Given the description of an element on the screen output the (x, y) to click on. 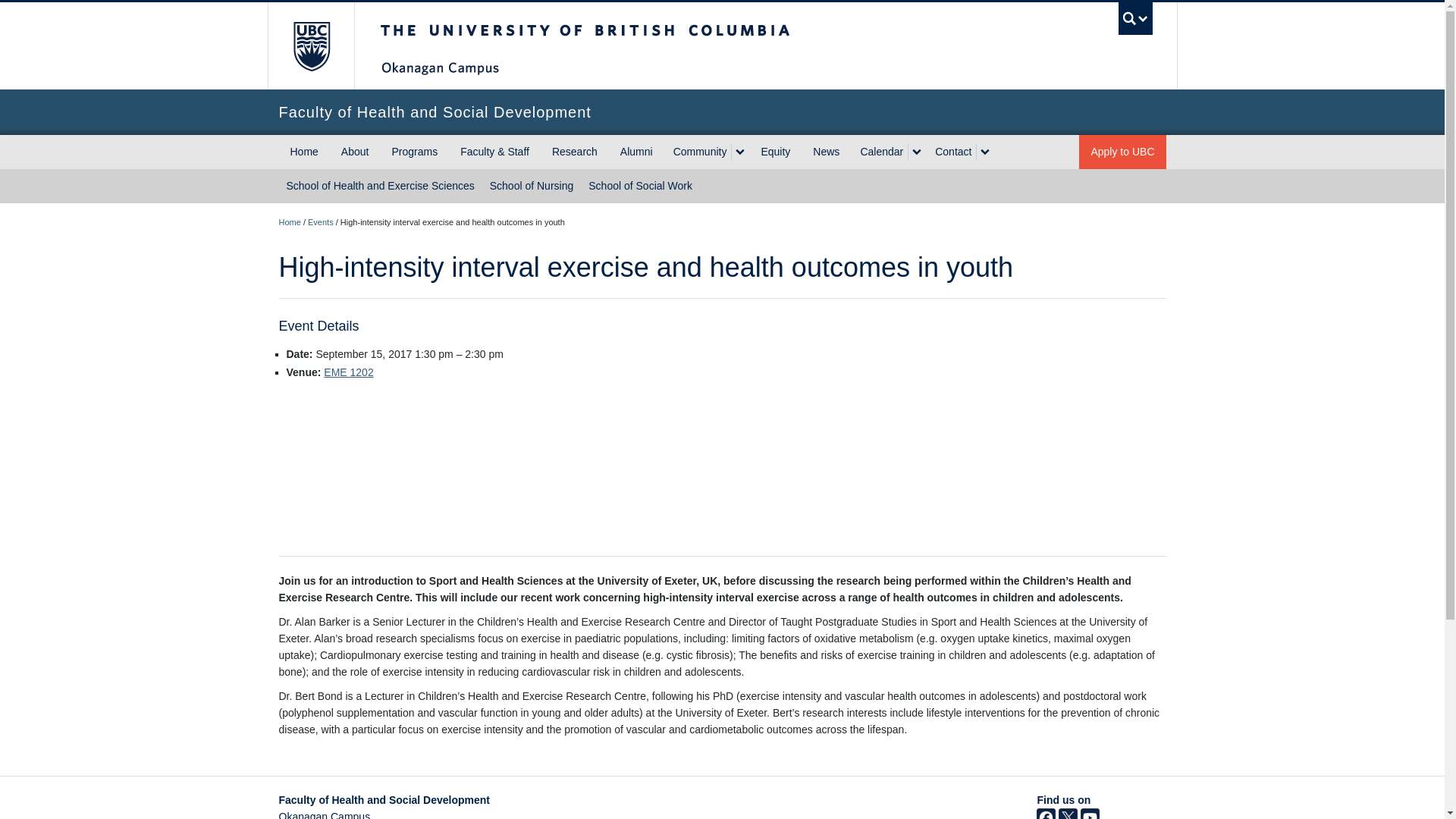
School of Social Work (640, 185)
About (355, 151)
Alumni (635, 151)
Programs (414, 151)
School of Health and Exercise Sciences (380, 185)
The University of British Columbia (635, 45)
Faculty of Health and Social Development (290, 221)
Home (290, 221)
The University of British Columbia (309, 45)
EME 1202 (347, 372)
Research (574, 151)
News (826, 151)
Faculty of Health and Social Development (722, 112)
Events (320, 221)
